Given the description of an element on the screen output the (x, y) to click on. 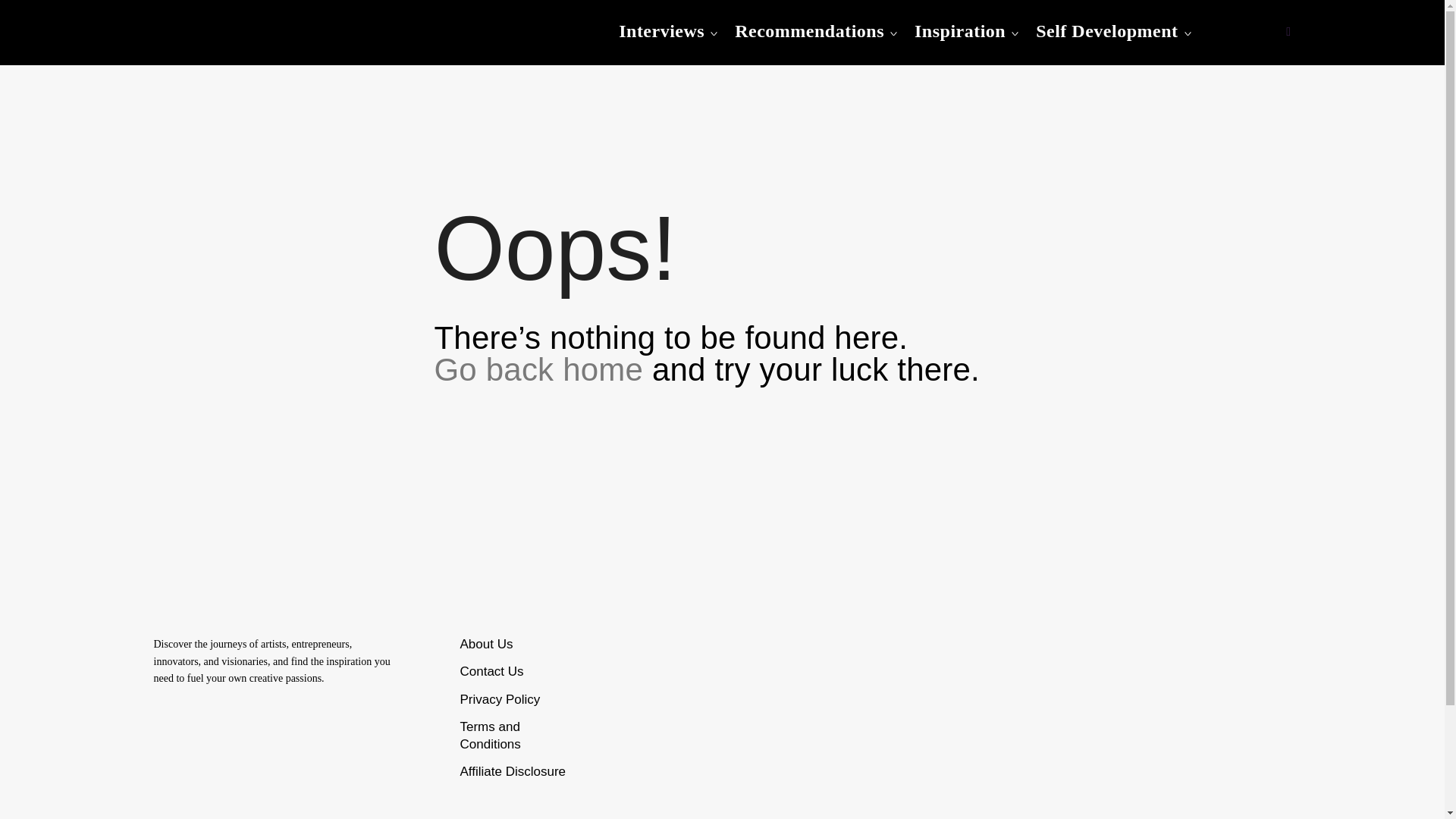
Affiliate Disclosure (513, 771)
Search (20, 18)
Self Development (1106, 31)
Go back home (538, 369)
Interviews (661, 31)
Terms and Conditions (489, 735)
Recommendations (809, 31)
Inspirationfeed (251, 51)
Contact Us (491, 671)
Privacy Policy (500, 699)
